Given the description of an element on the screen output the (x, y) to click on. 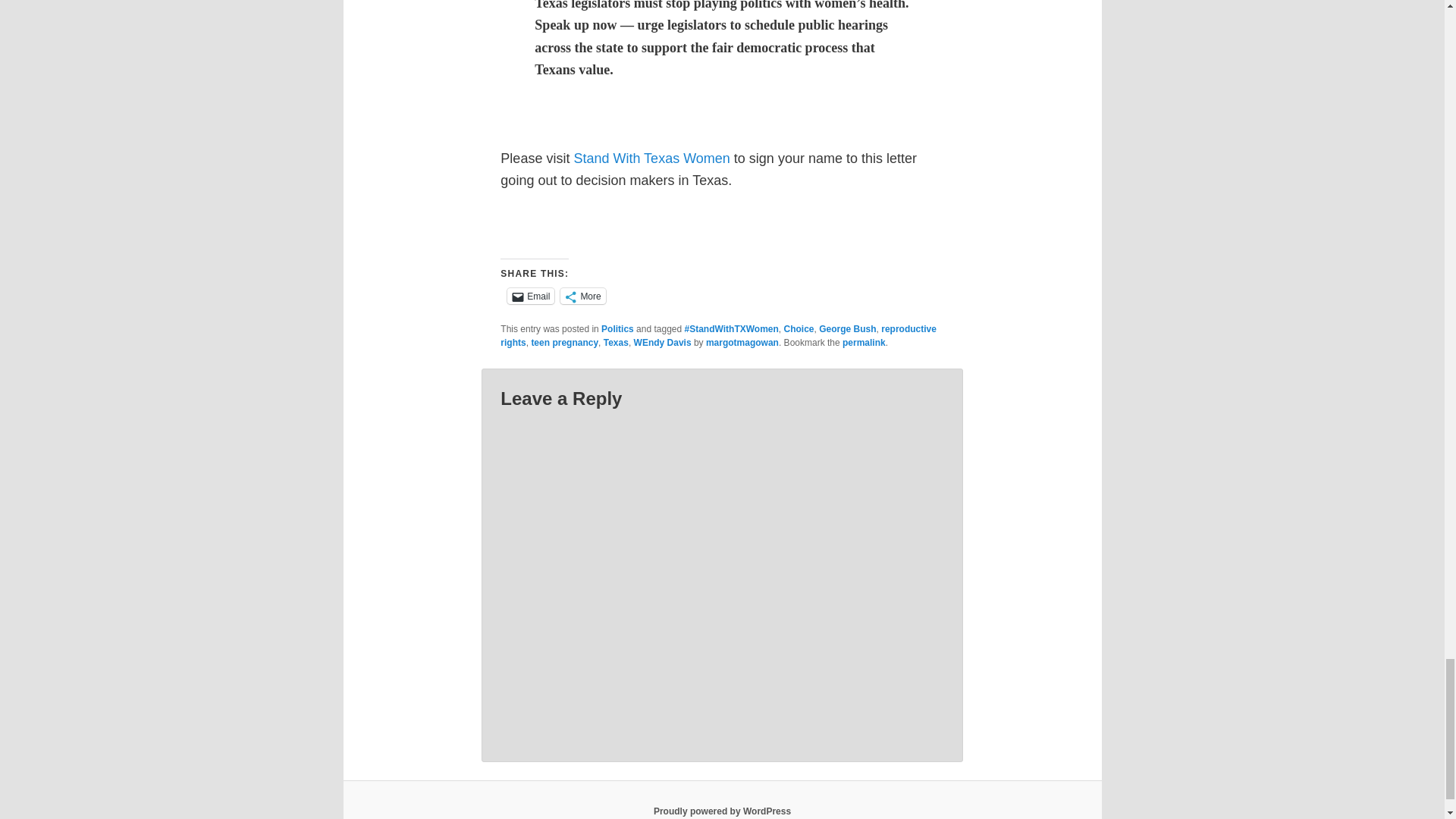
Choice (798, 328)
Stand With Texas Women (653, 158)
permalink (864, 342)
Click to email a link to a friend (530, 295)
Email (530, 295)
Semantic Personal Publishing Platform (721, 810)
Politics (617, 328)
More (582, 295)
Proudly powered by WordPress (721, 810)
margotmagowan (742, 342)
reproductive rights (718, 335)
teen pregnancy (564, 342)
Texas (616, 342)
George Bush (847, 328)
